Given the description of an element on the screen output the (x, y) to click on. 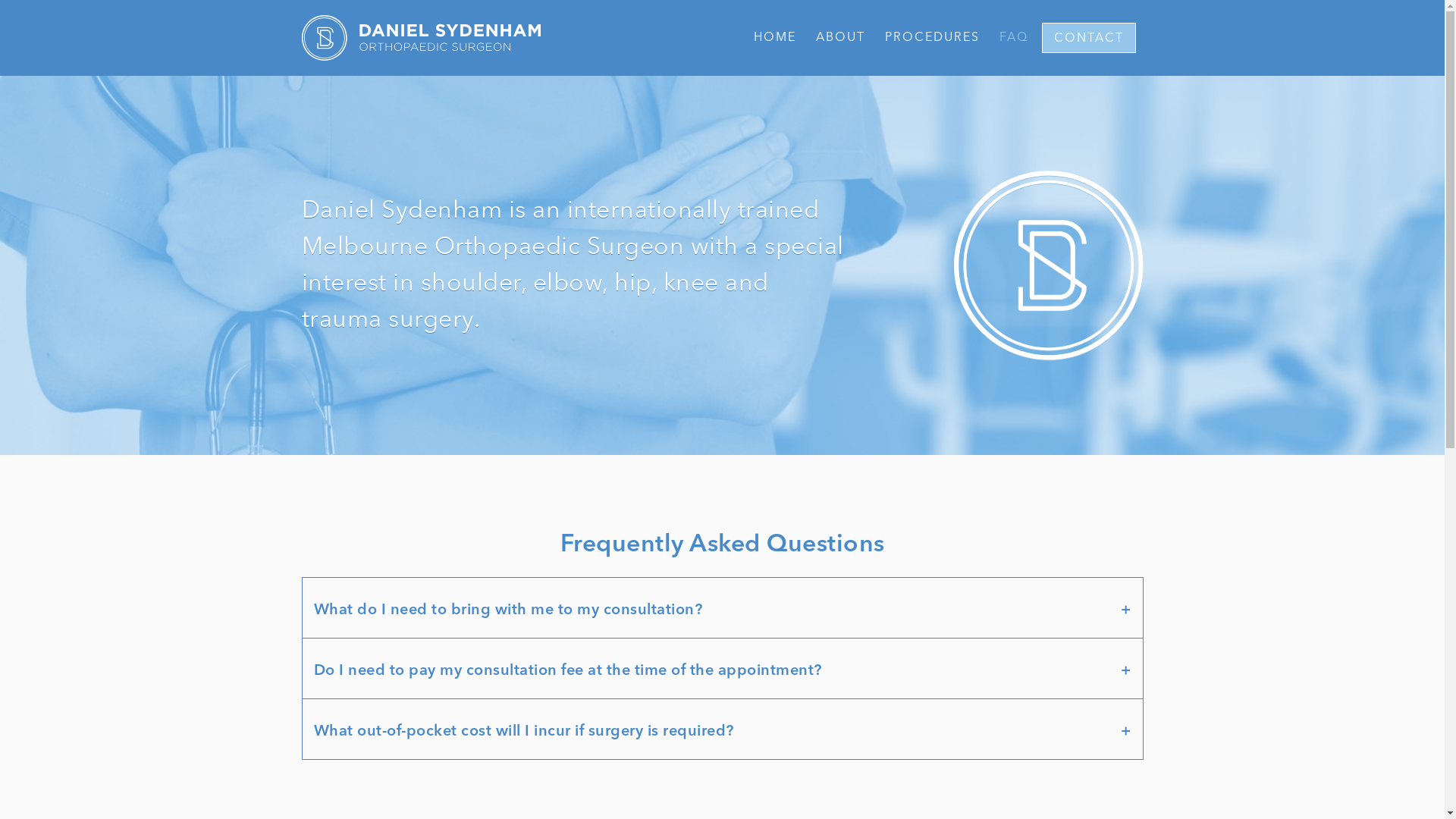
PROCEDURES Element type: text (931, 37)
ABOUT Element type: text (840, 37)
FAQ Element type: text (1013, 37)
HOME Element type: text (774, 37)
What do I need to bring with me to my consultation?
+ Element type: text (722, 610)
CONTACT Element type: text (1088, 37)
